Given the description of an element on the screen output the (x, y) to click on. 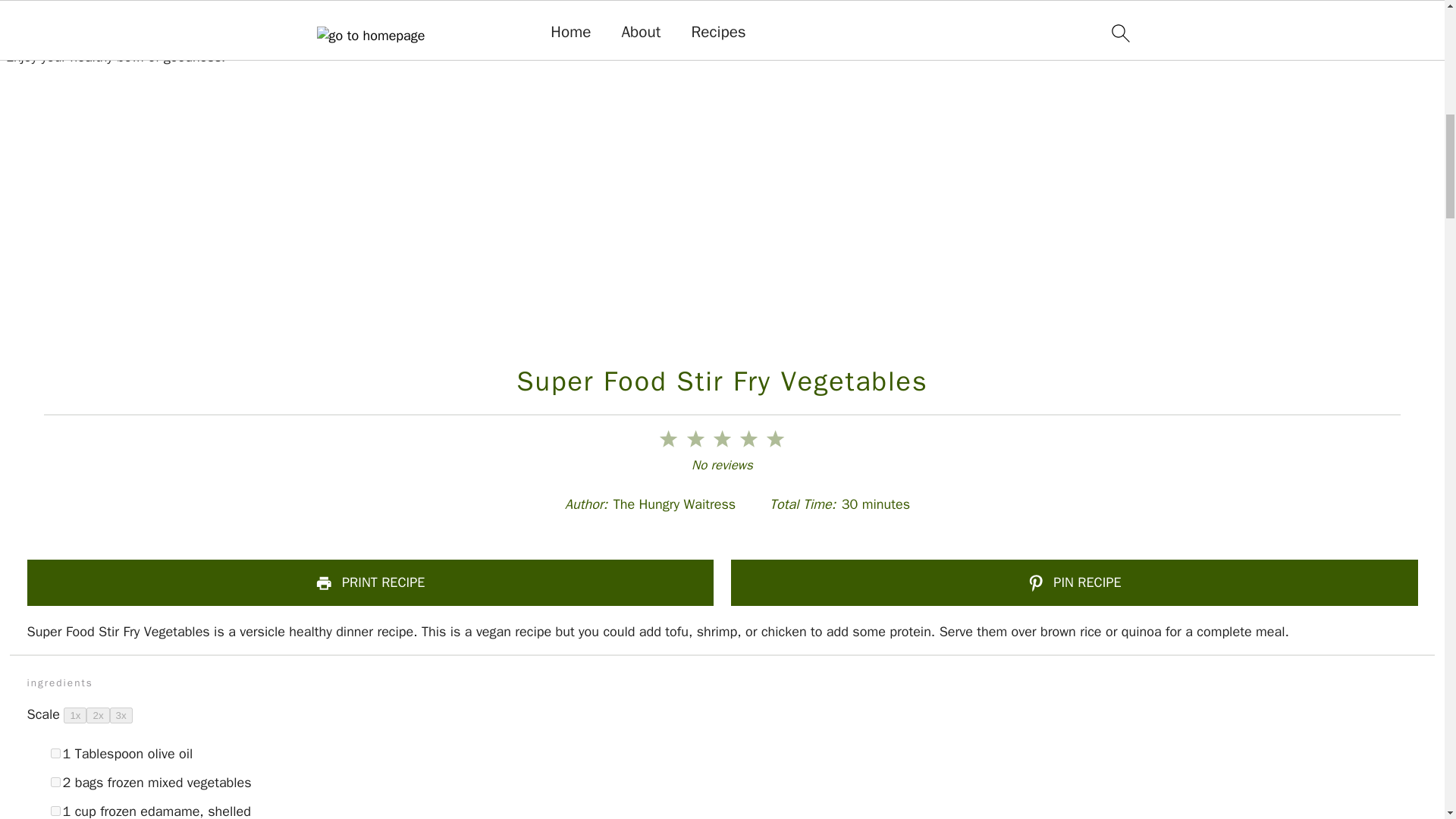
PRINT RECIPE (370, 582)
on (54, 753)
on (54, 809)
on (54, 782)
PIN RECIPE (1074, 582)
